Given the description of an element on the screen output the (x, y) to click on. 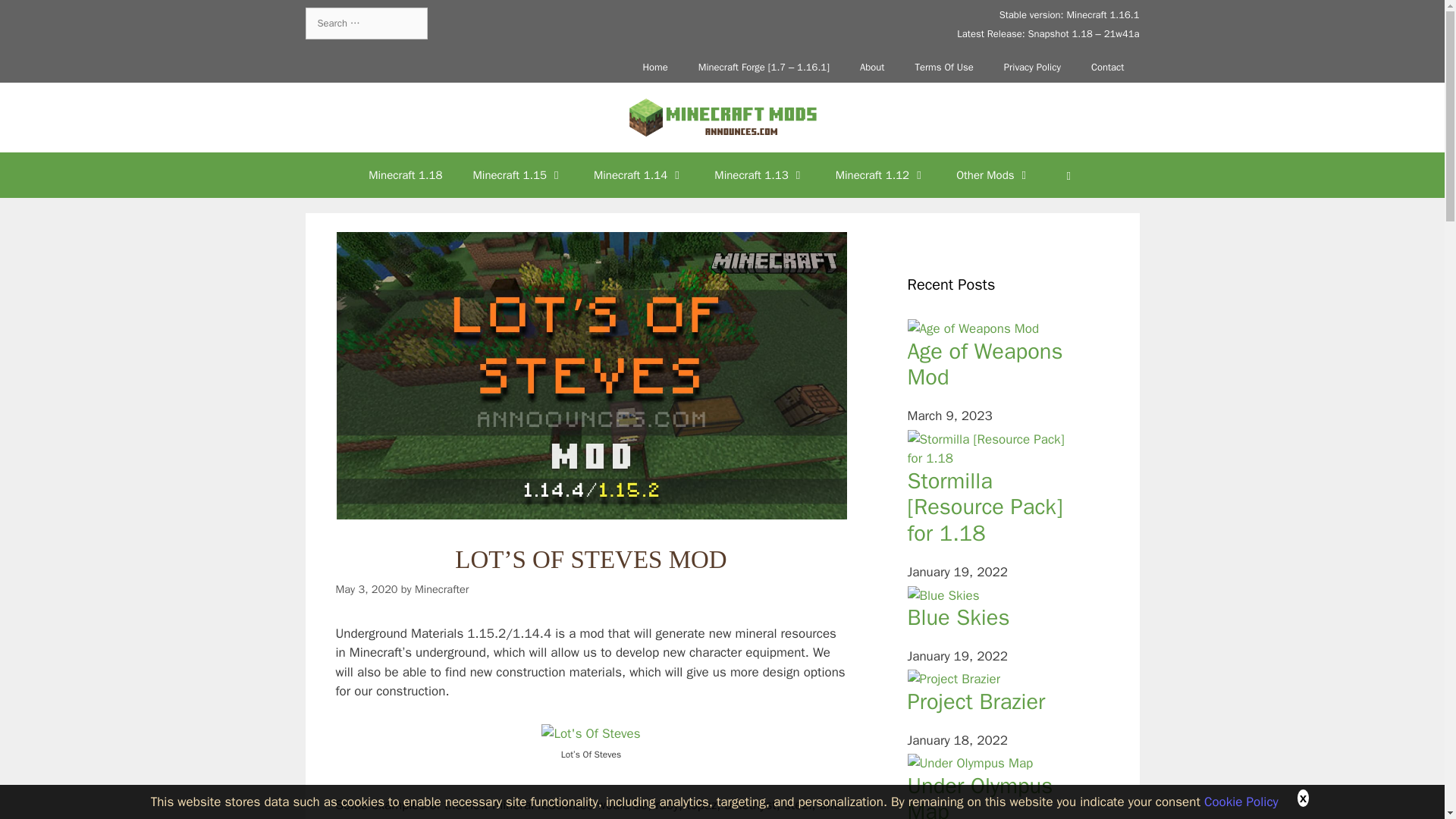
Contact (1107, 67)
Minecraft 1.18 (405, 175)
About (871, 67)
Minecraft 1.13 (758, 175)
Cookie Policy (1241, 801)
View all posts by Minecrafter (441, 589)
Terms Of Use (943, 67)
Minecraft 1.16.1 (1101, 14)
Minecraft 1.15 (518, 175)
Privacy Policy (1031, 67)
